Given the description of an element on the screen output the (x, y) to click on. 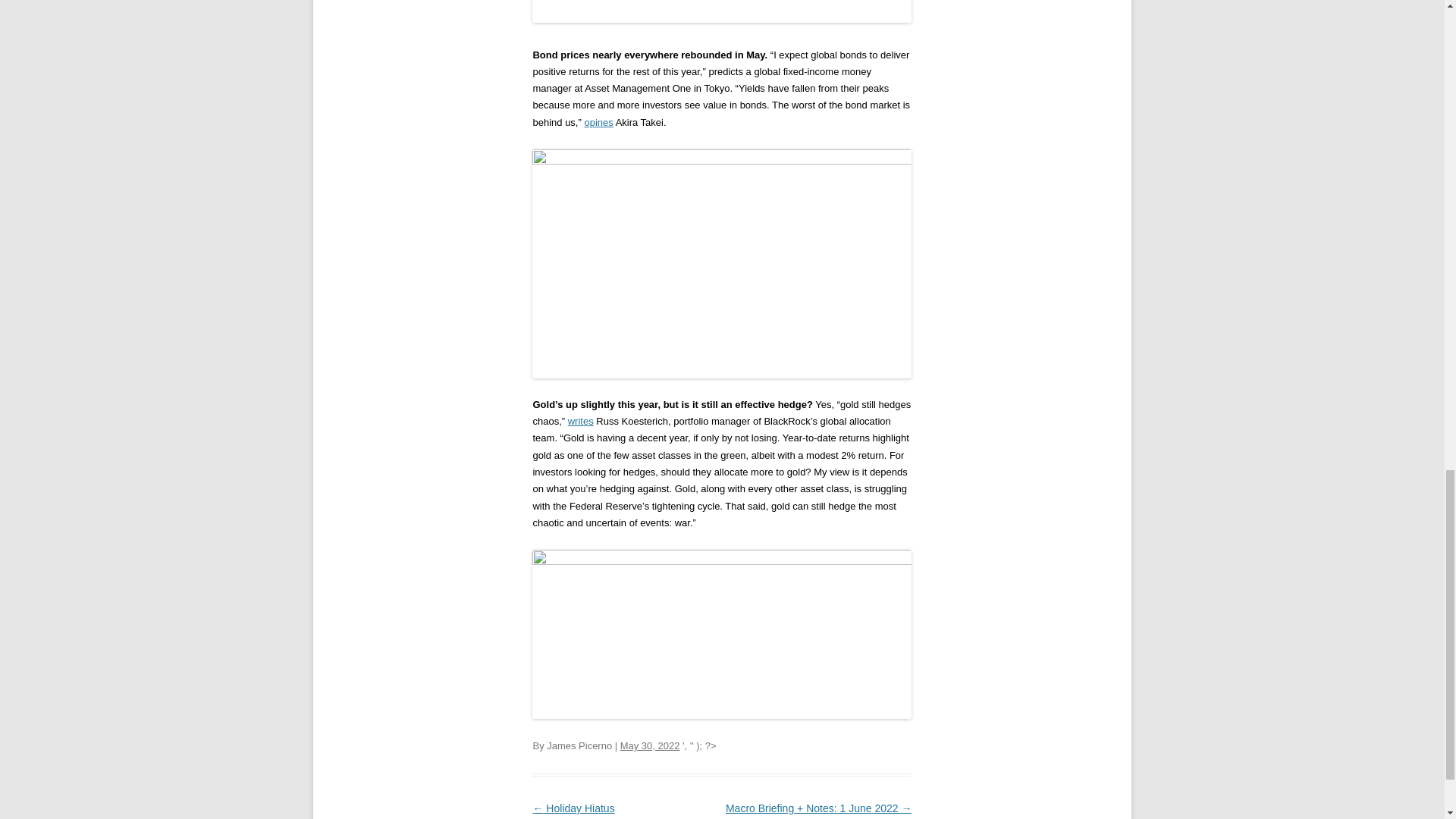
May 30, 2022 (649, 745)
11:49 pm (649, 745)
opines (597, 122)
writes (580, 420)
